Given the description of an element on the screen output the (x, y) to click on. 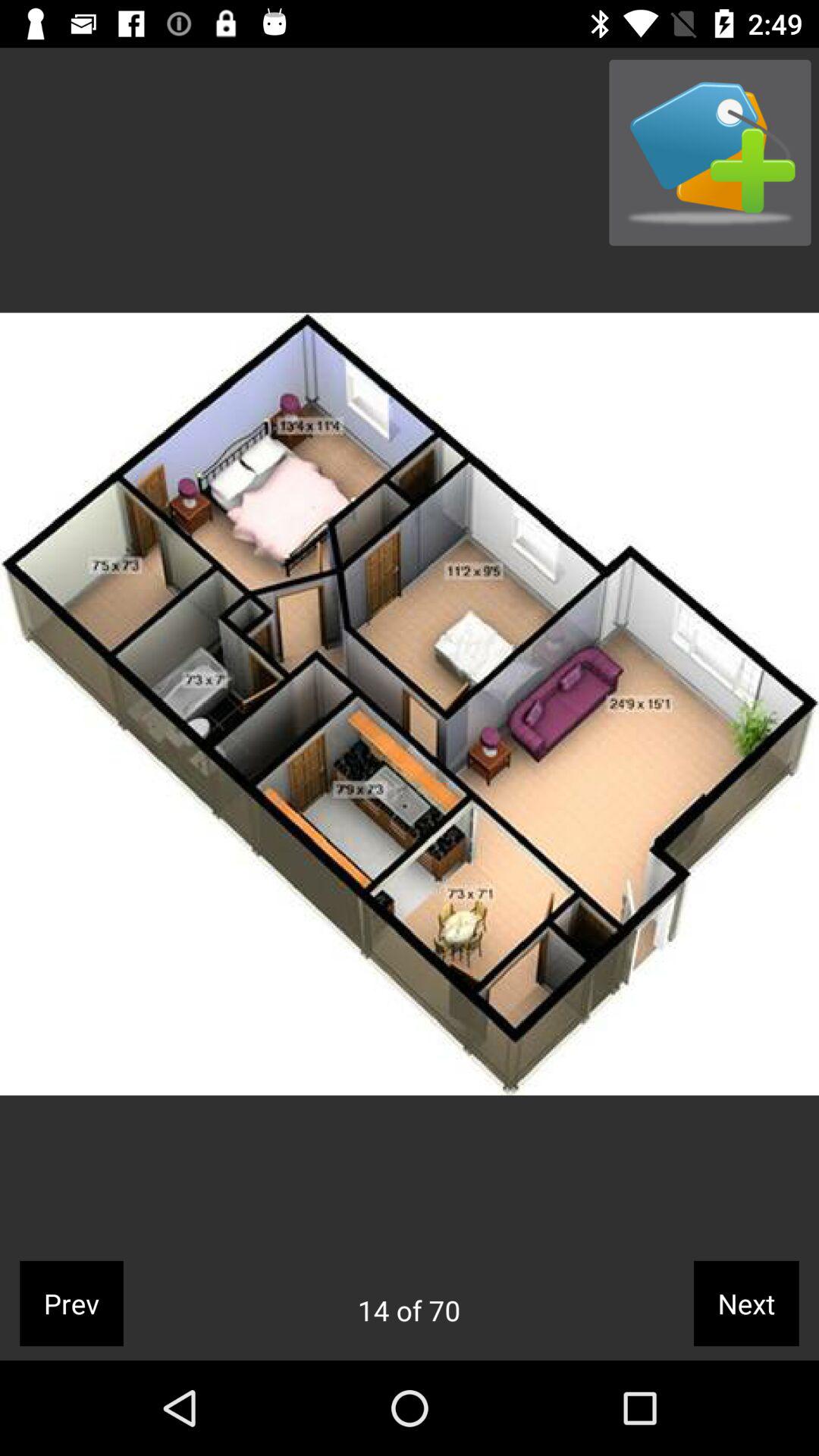
scroll to the next (746, 1303)
